Given the description of an element on the screen output the (x, y) to click on. 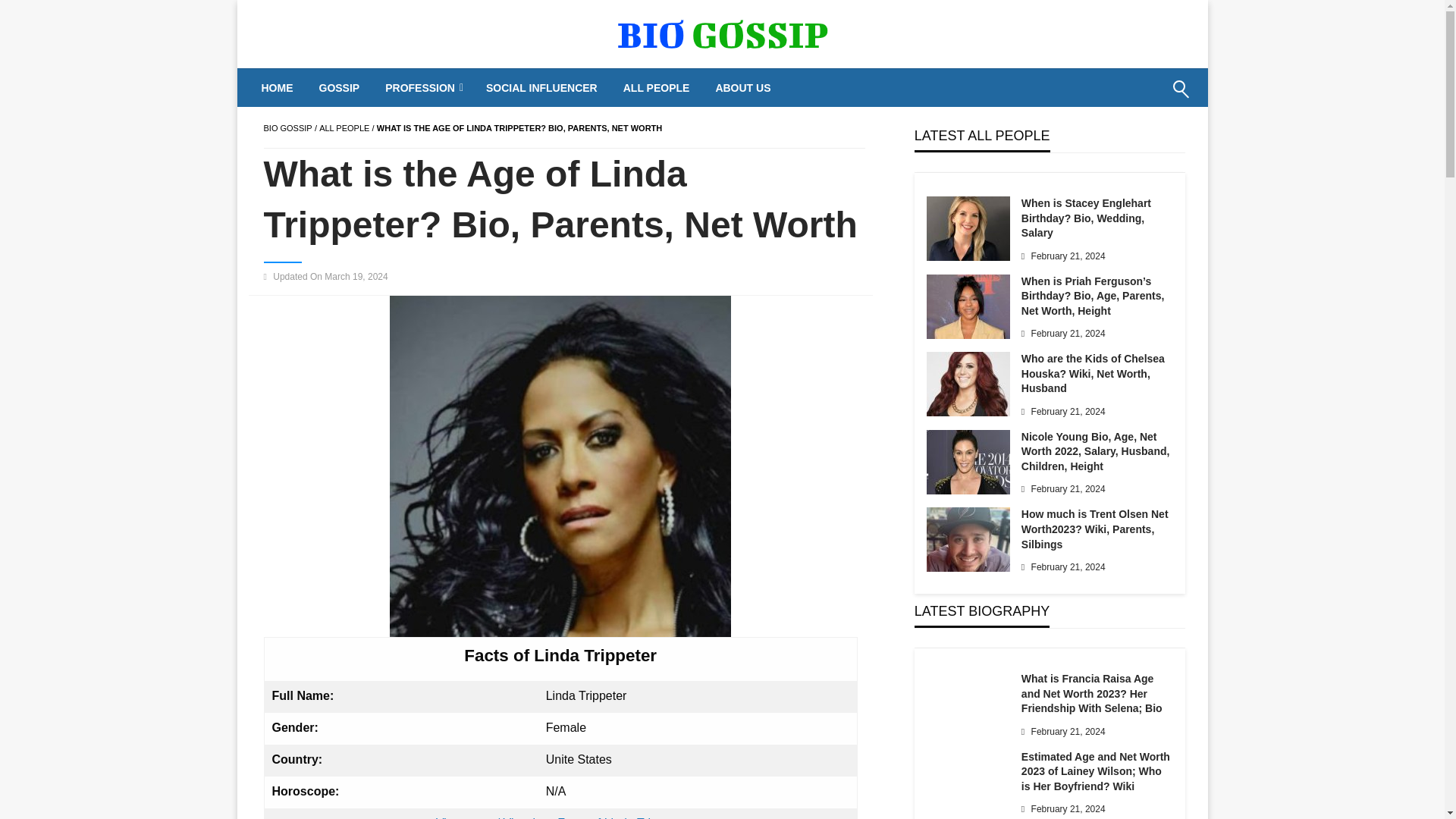
When is Stacey Englehart Birthday? Bio, Wedding, Salary (968, 228)
Who are the Kids of Chelsea Houska? Wiki, Net Worth, Husband (968, 384)
HOME (276, 87)
ALL PEOPLE (656, 87)
ABOUT US (742, 87)
ALL PEOPLE (343, 127)
All People (343, 127)
